Given the description of an element on the screen output the (x, y) to click on. 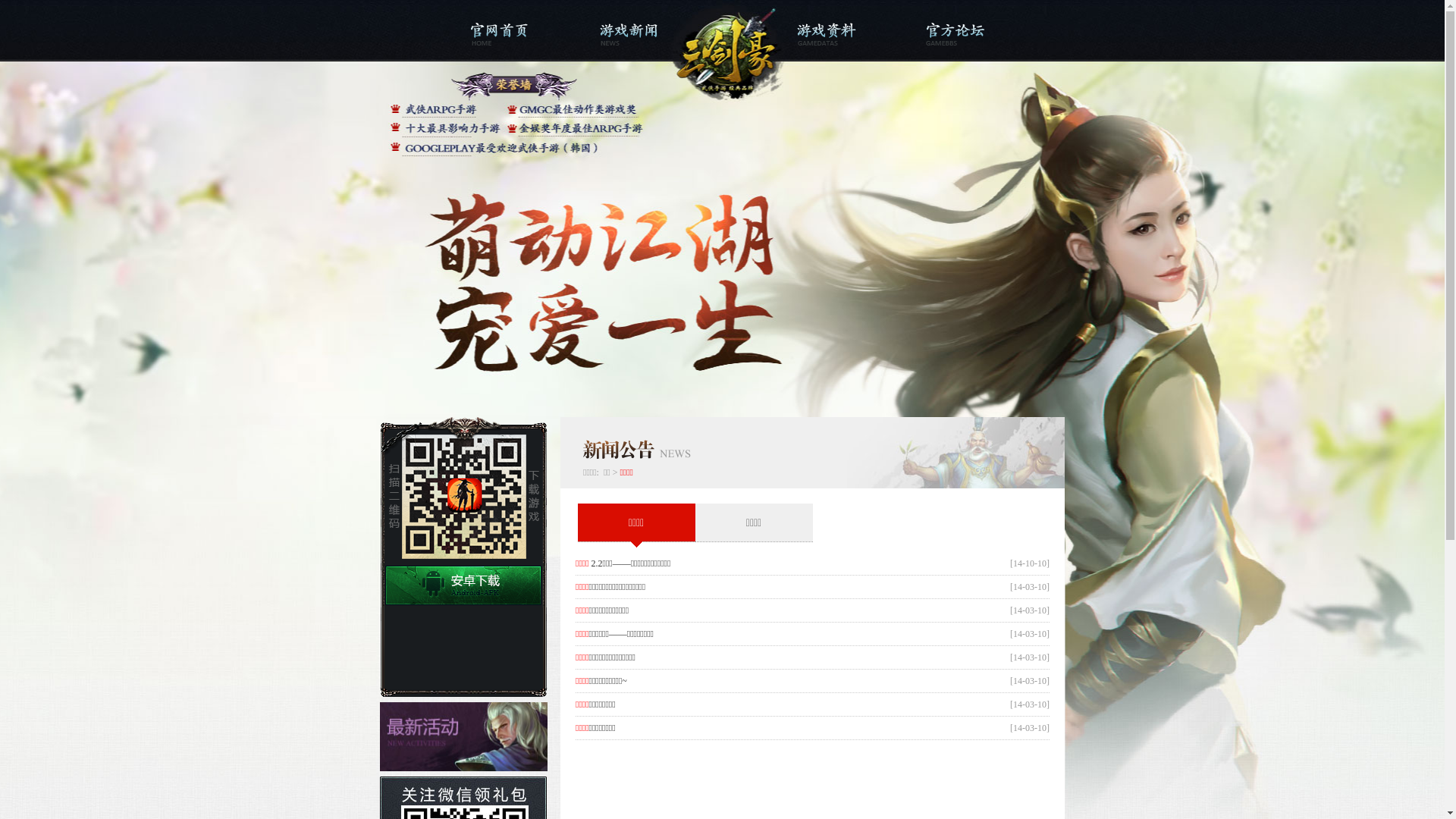
[1] Element type: text (813, 754)
